Given the description of an element on the screen output the (x, y) to click on. 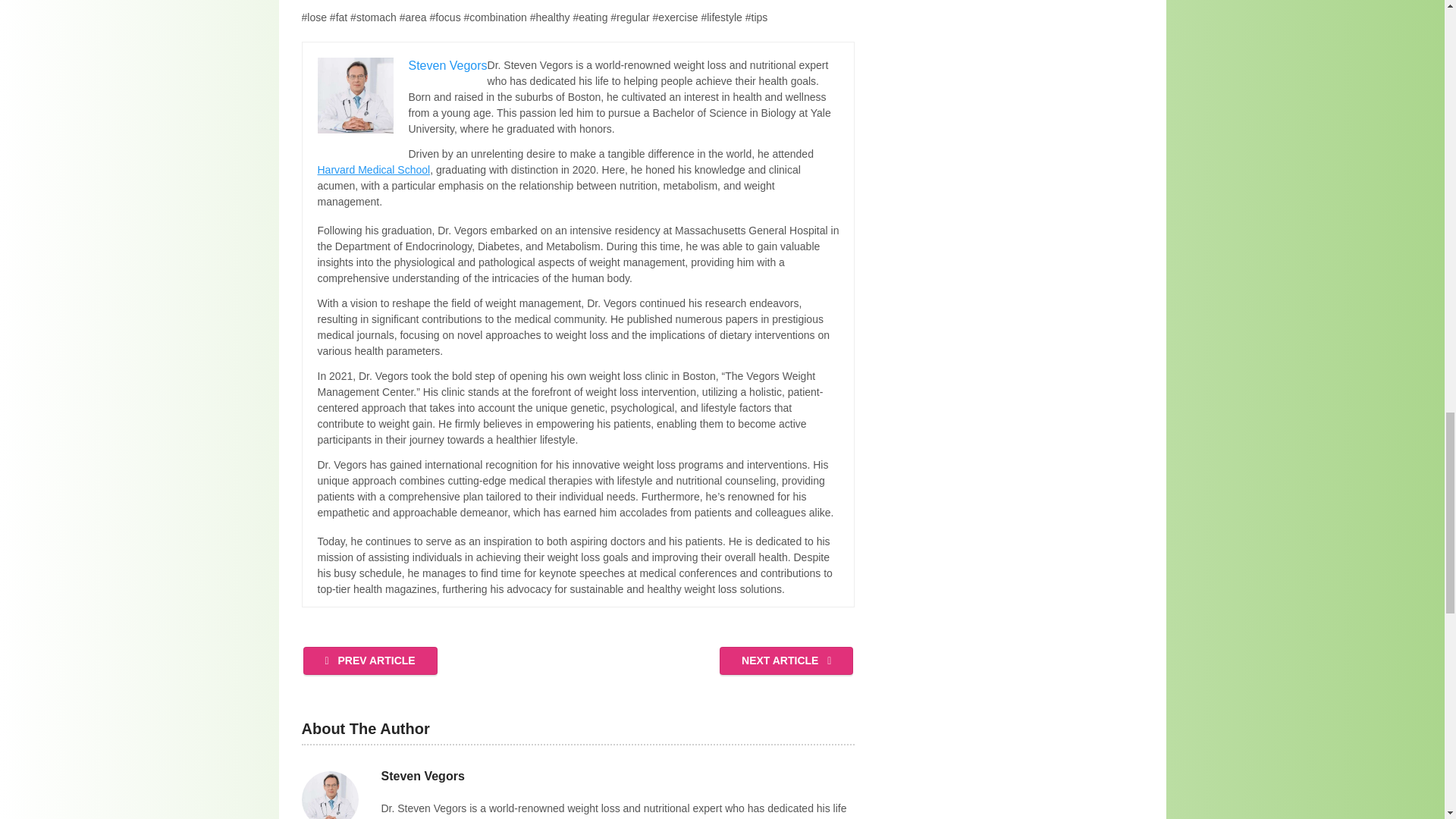
PREV ARTICLE (370, 660)
NEXT ARTICLE (786, 660)
Steven Vegors (422, 776)
Harvard Medical School (373, 169)
